Given the description of an element on the screen output the (x, y) to click on. 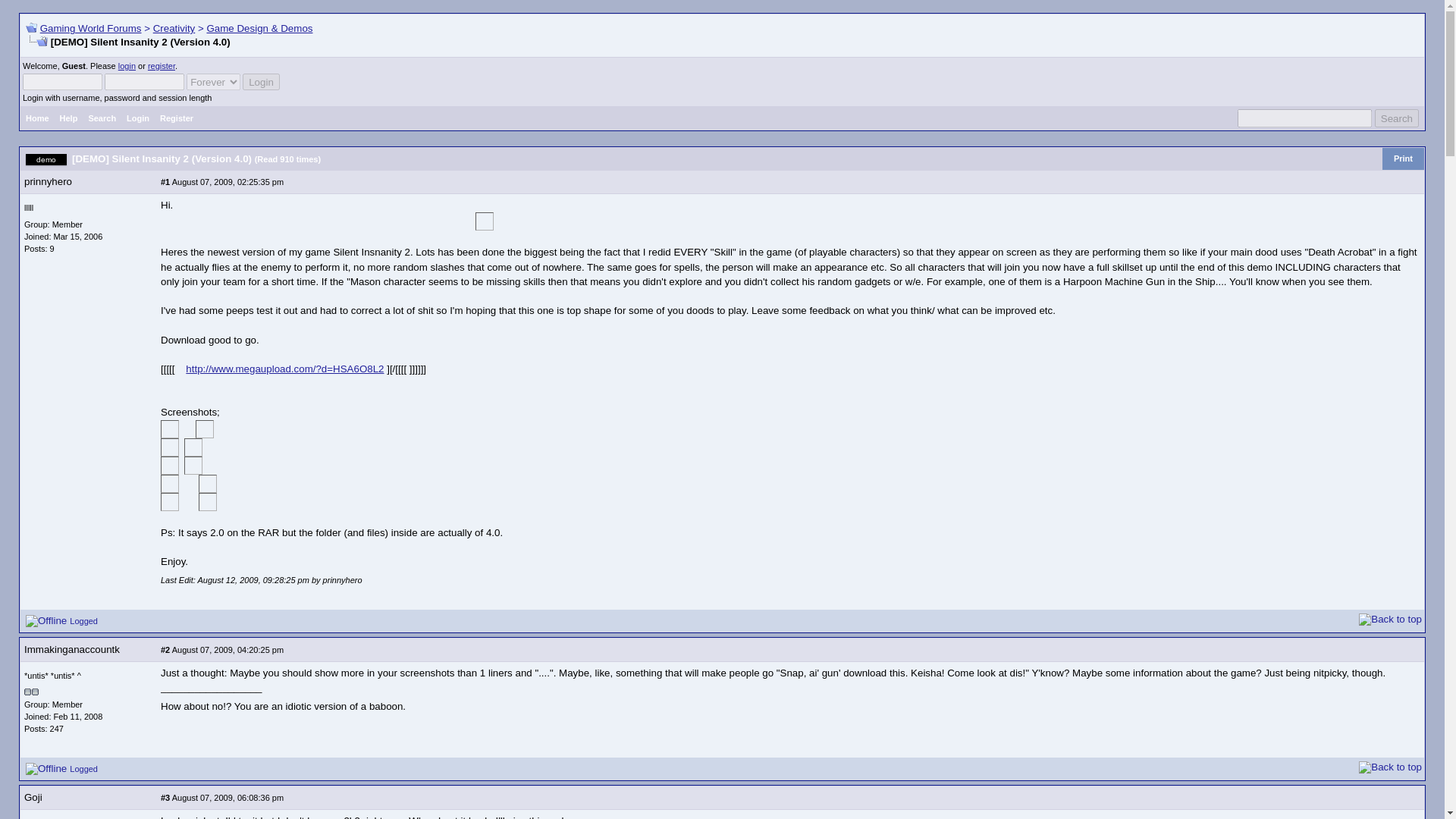
Search (1396, 117)
Search (101, 118)
login (126, 65)
Demo (46, 159)
Offline (46, 621)
Login (261, 81)
Home (37, 118)
Login (261, 81)
Login (137, 118)
Help (68, 118)
